Given the description of an element on the screen output the (x, y) to click on. 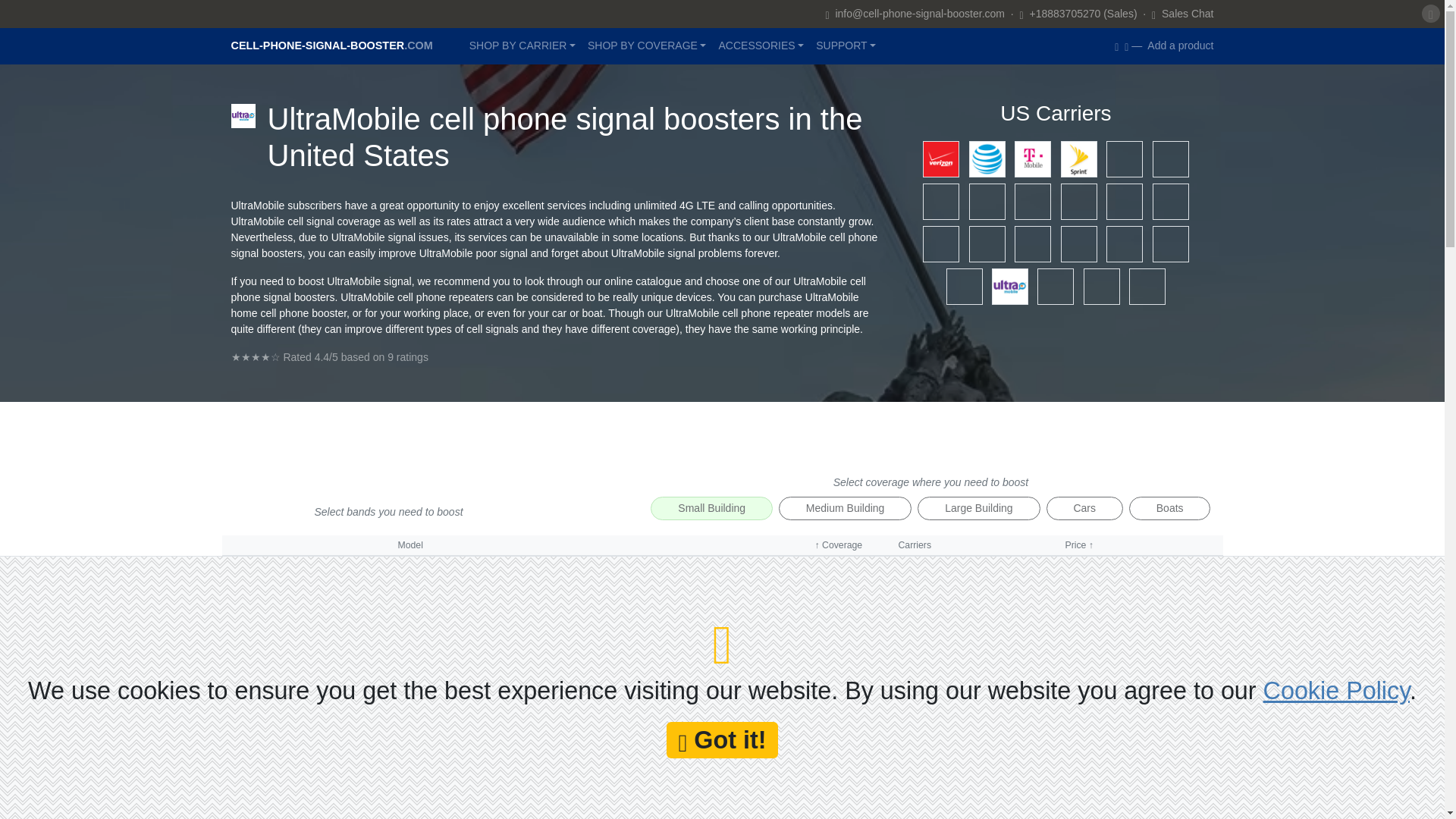
ACCESSORIES (760, 45)
Sales Chat (1182, 13)
SHOP BY CARRIER (521, 45)
SHOP BY COVERAGE (647, 45)
Cell-phone-signal-booster (331, 46)
CELL-PHONE-SIGNAL-BOOSTER.COM (331, 46)
